Given the description of an element on the screen output the (x, y) to click on. 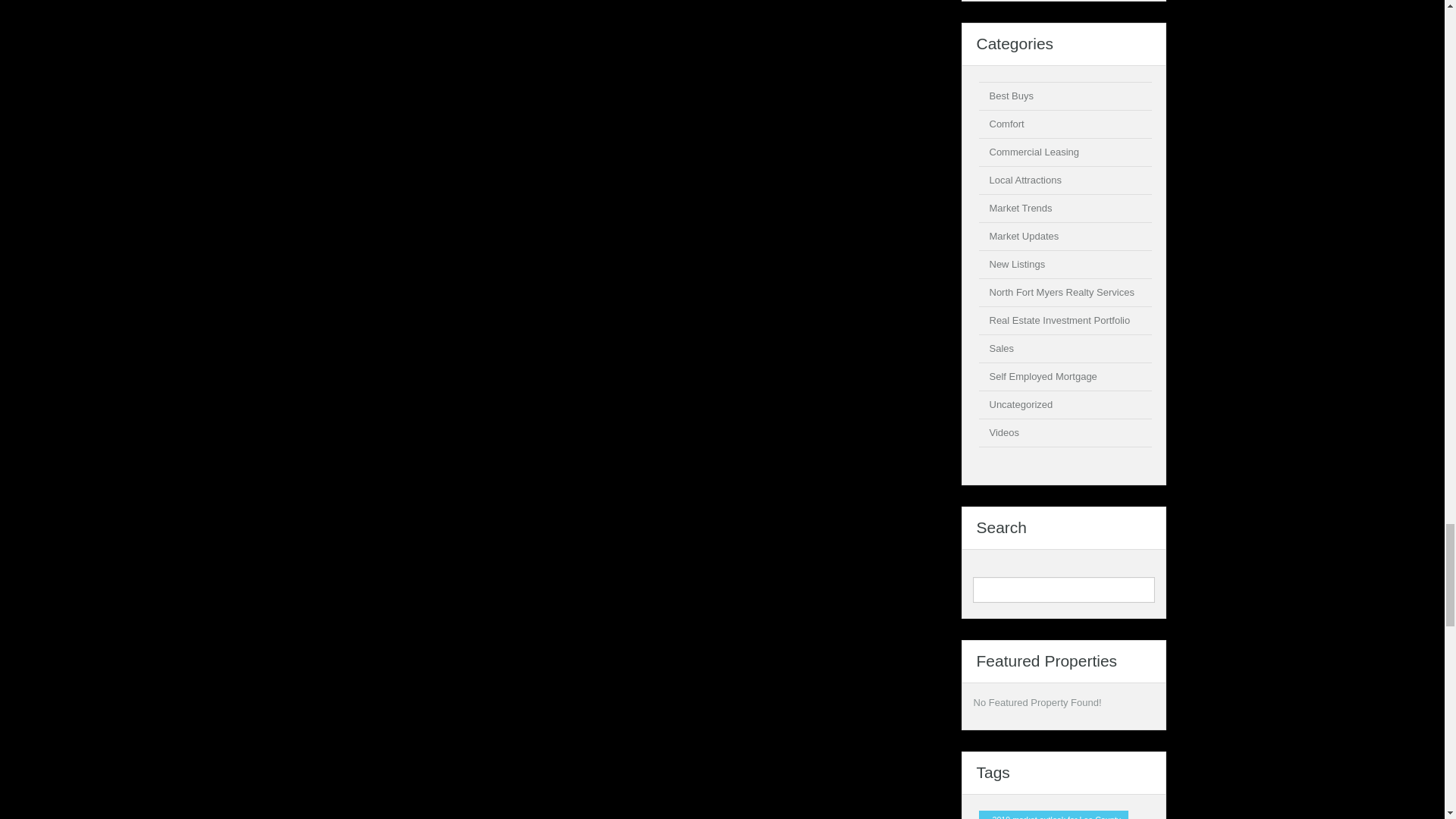
Search (1141, 589)
